Given the description of an element on the screen output the (x, y) to click on. 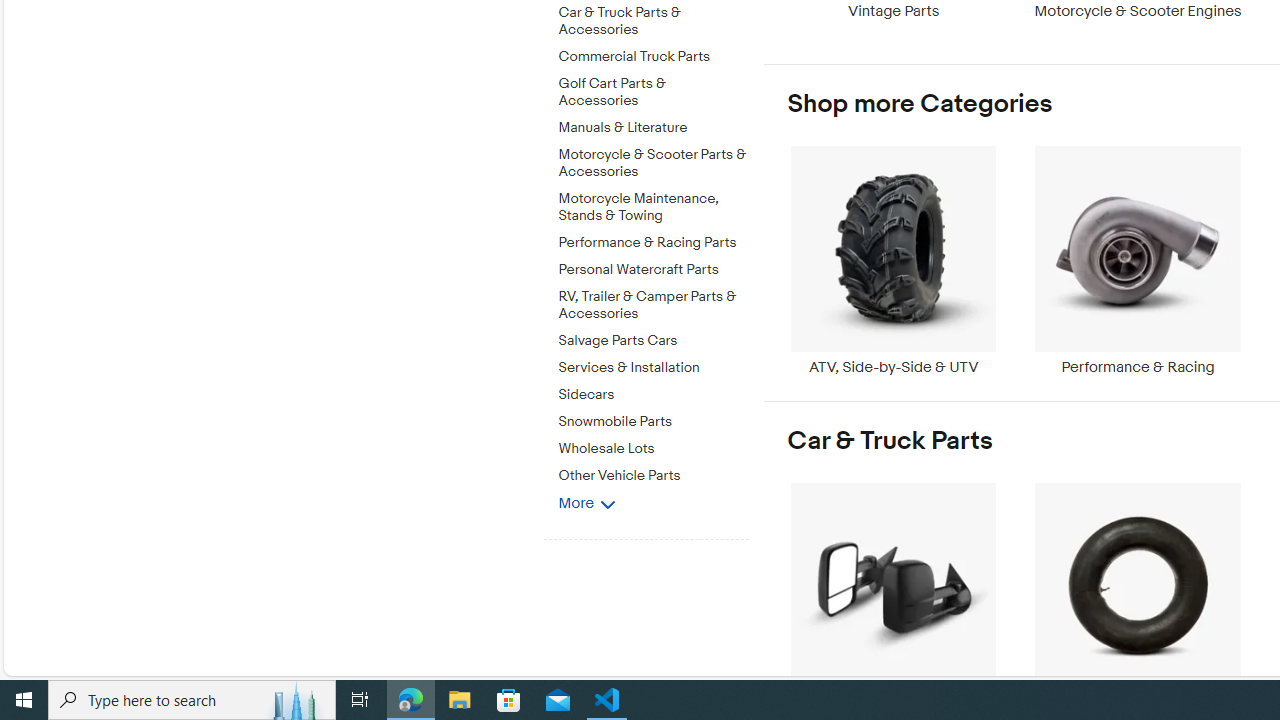
Performance & Racing Parts (653, 239)
Manuals & Literature (653, 128)
ATV, Side-by-Side & UTV (893, 260)
Personal Watercraft Parts (653, 270)
RV, Trailer & Camper Parts & Accessories (653, 306)
Snowmobile Parts (653, 418)
Services & Installation (653, 364)
Exterior Parts & Accessories (893, 596)
